Given the description of an element on the screen output the (x, y) to click on. 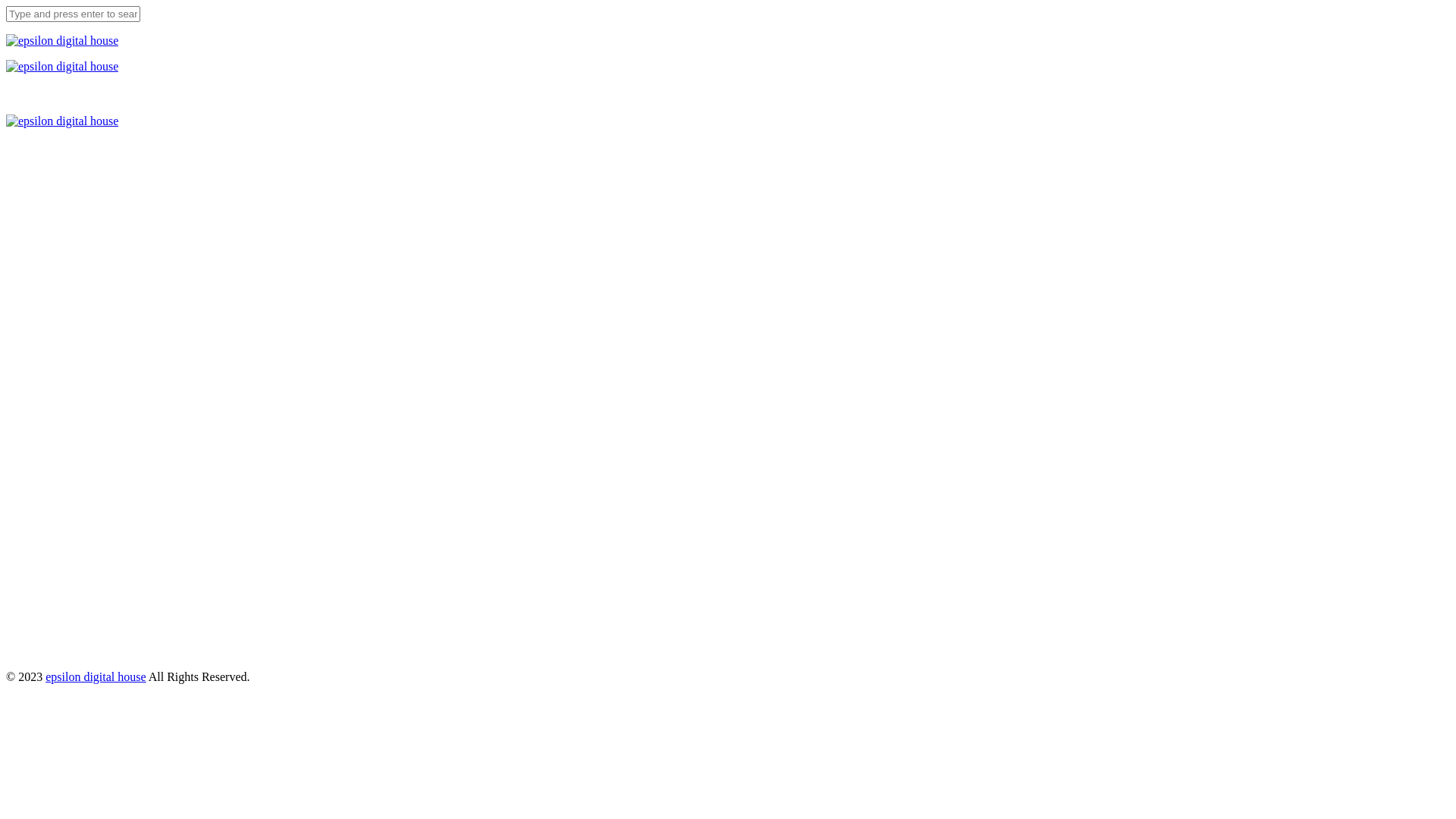
epsilon digital house Element type: text (95, 676)
